Given the description of an element on the screen output the (x, y) to click on. 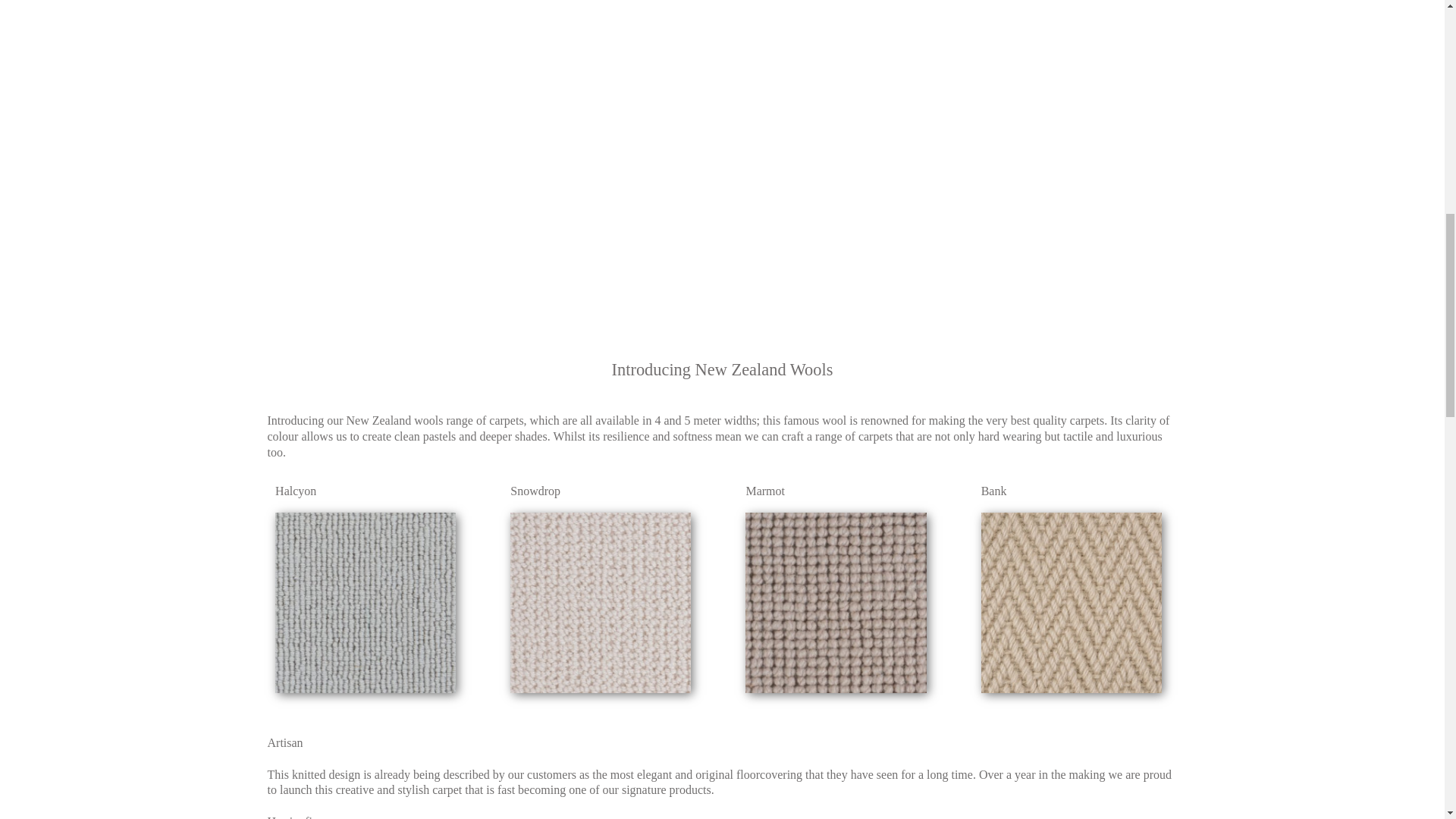
Marmot (764, 492)
Snowdrop (535, 492)
Halcyon (295, 492)
Bank (994, 492)
